Given the description of an element on the screen output the (x, y) to click on. 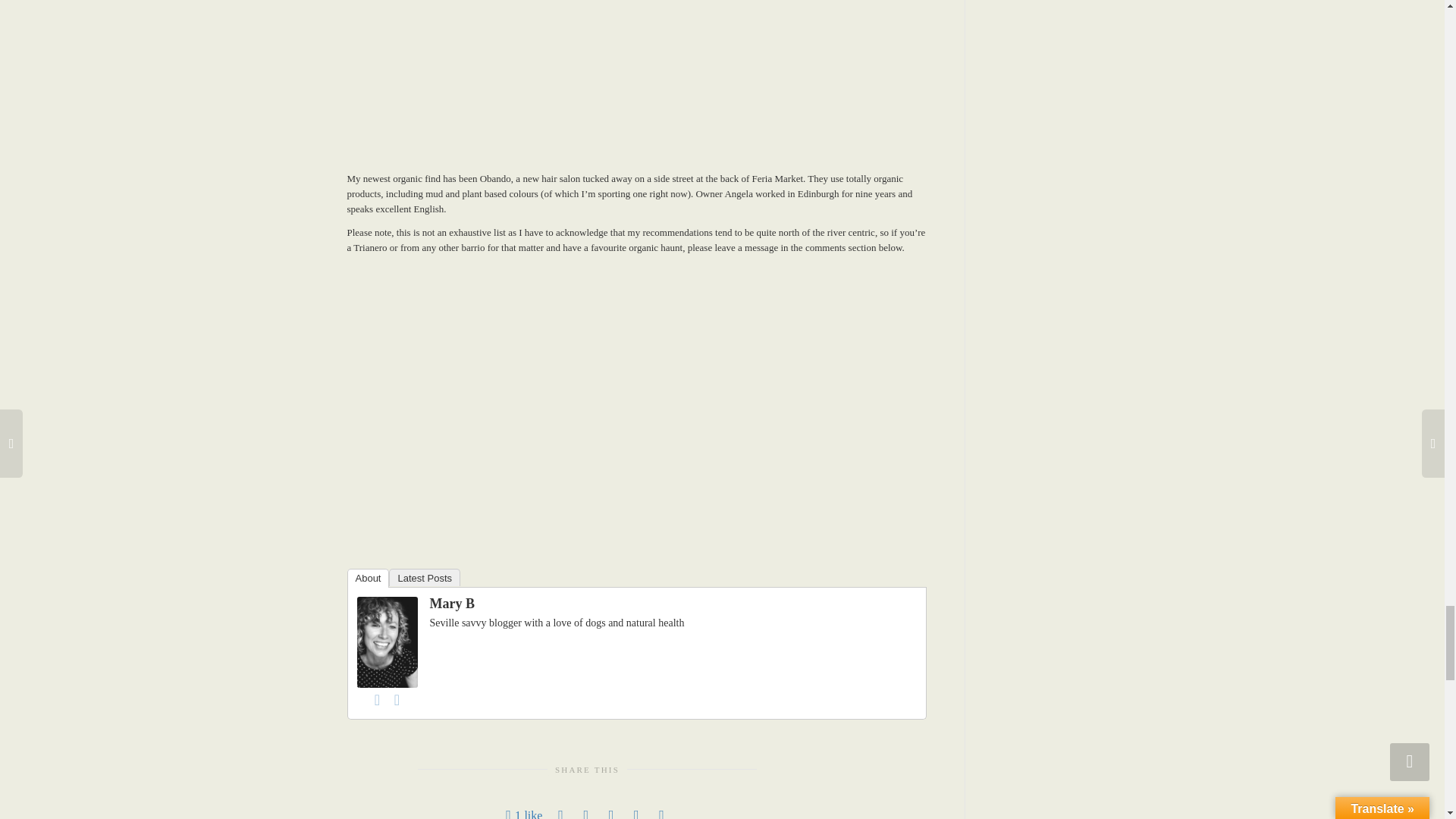
Facebook (377, 700)
Twitter (397, 700)
Mary B (386, 641)
Latest Posts (424, 577)
Mary B (451, 603)
About (368, 578)
